Given the description of an element on the screen output the (x, y) to click on. 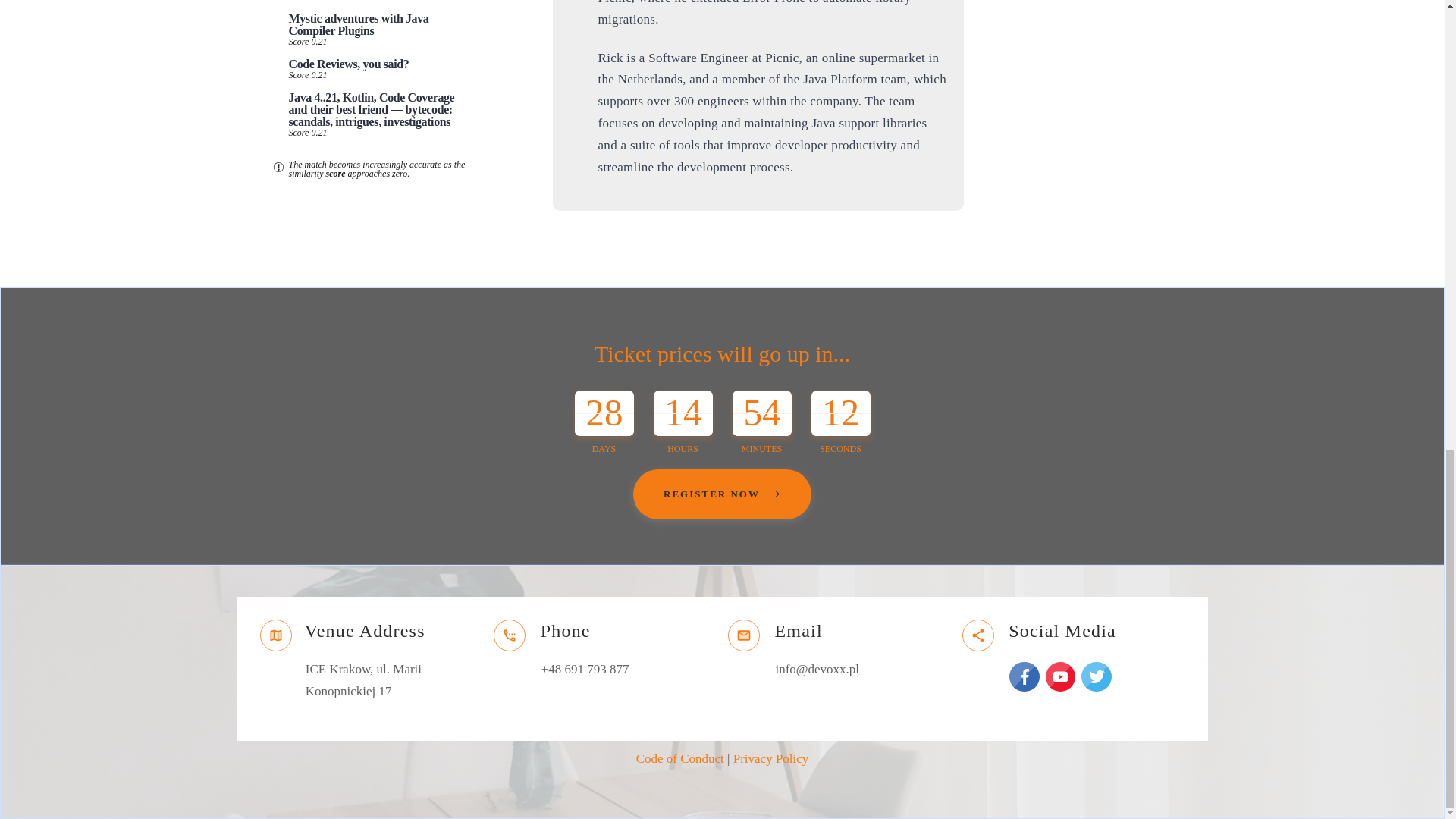
Mystic adventures with Java Compiler Plugins (358, 24)
Code Reviews, you said? (348, 63)
Code of Conduct (679, 758)
Privacy Policy (771, 758)
REGISTER NOW (721, 494)
